Given the description of an element on the screen output the (x, y) to click on. 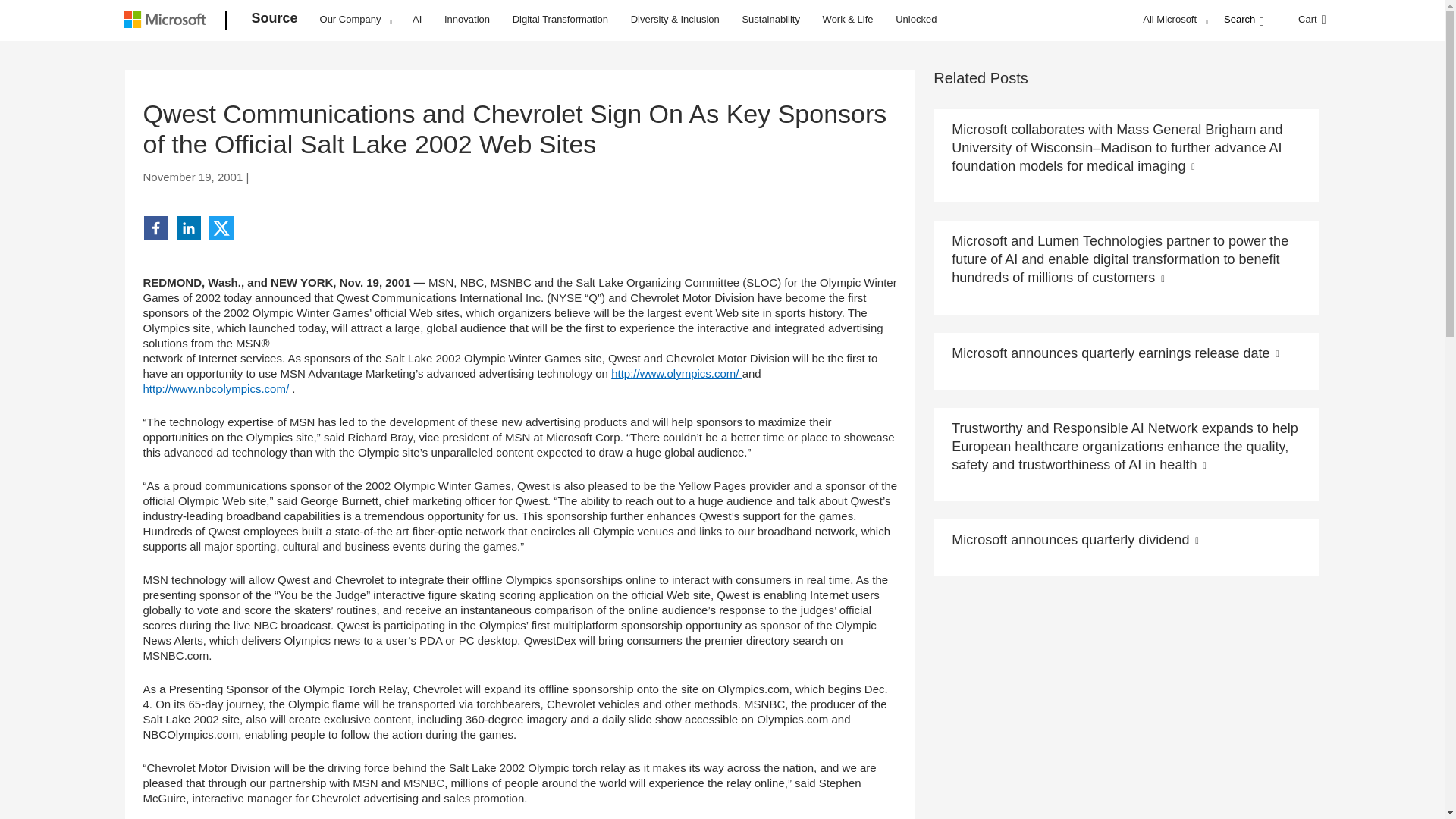
Innovation (467, 18)
Our Company (355, 18)
Source (274, 20)
Unlocked (915, 18)
Sustainability (770, 18)
AI (417, 18)
Microsoft (167, 20)
All Microsoft (1173, 18)
Digital Transformation (559, 18)
